Given the description of an element on the screen output the (x, y) to click on. 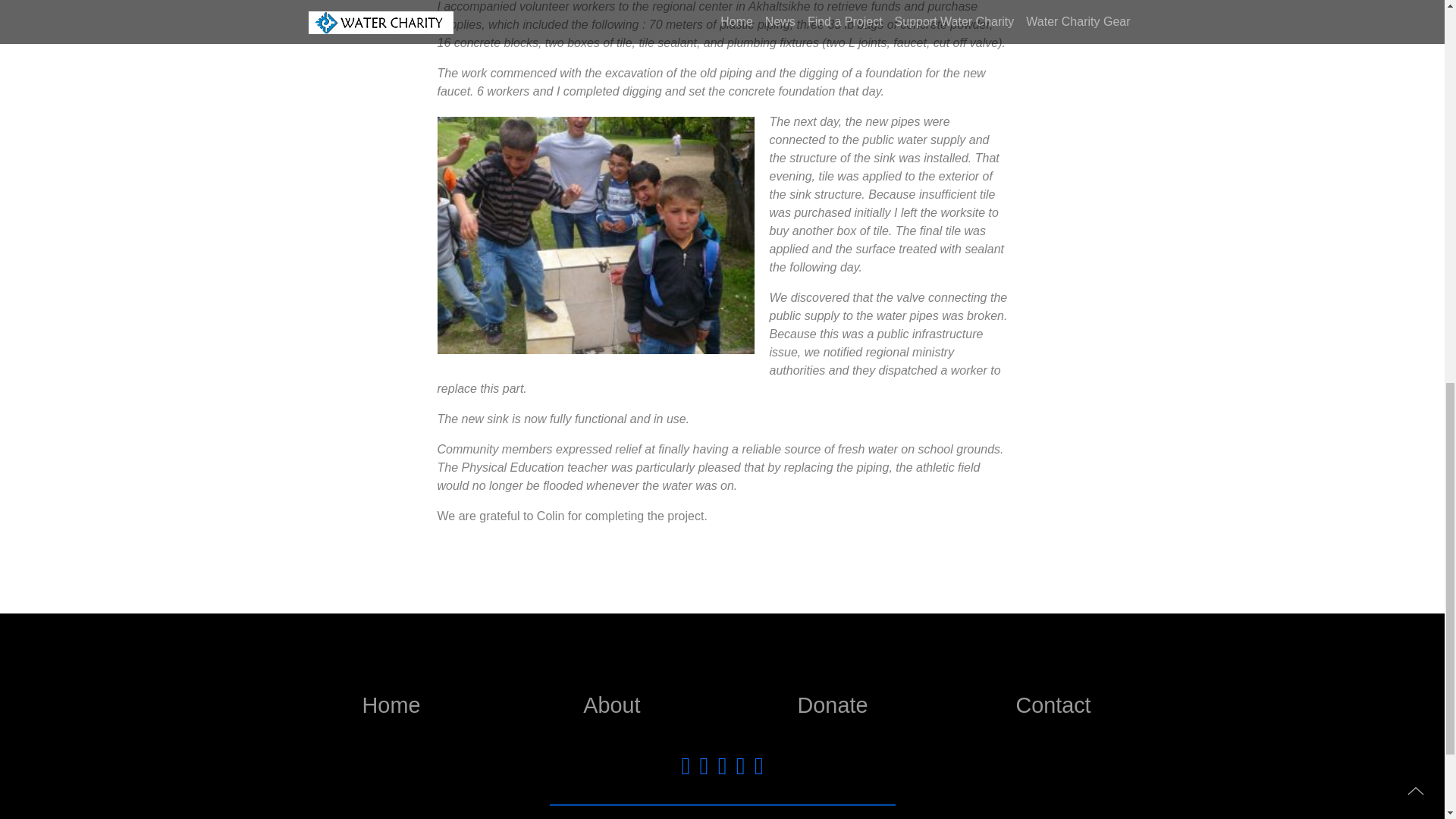
About (612, 705)
Home (390, 705)
Donate (831, 705)
Contact (1053, 705)
